Given the description of an element on the screen output the (x, y) to click on. 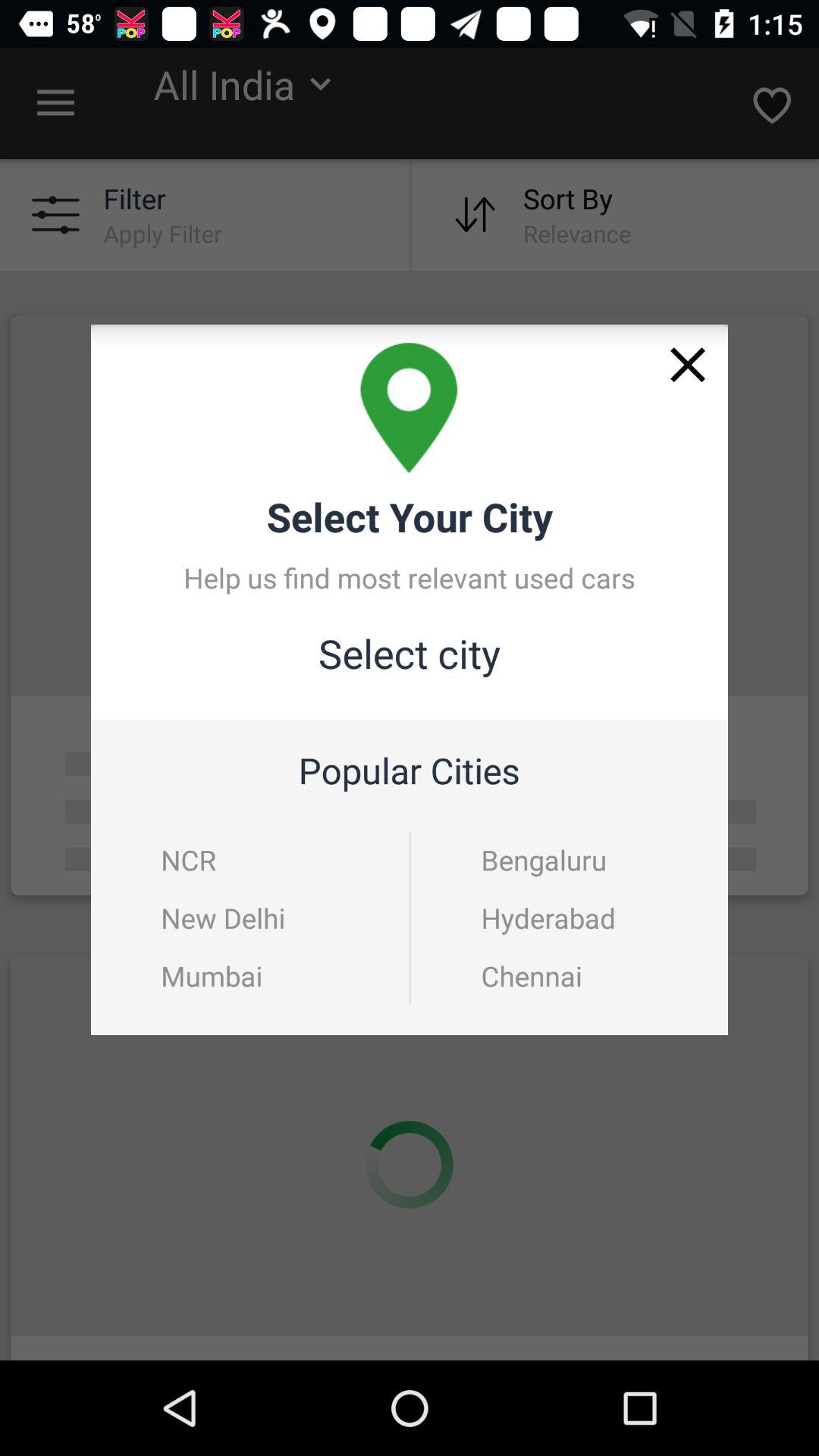
scroll to hyderabad icon (569, 917)
